Given the description of an element on the screen output the (x, y) to click on. 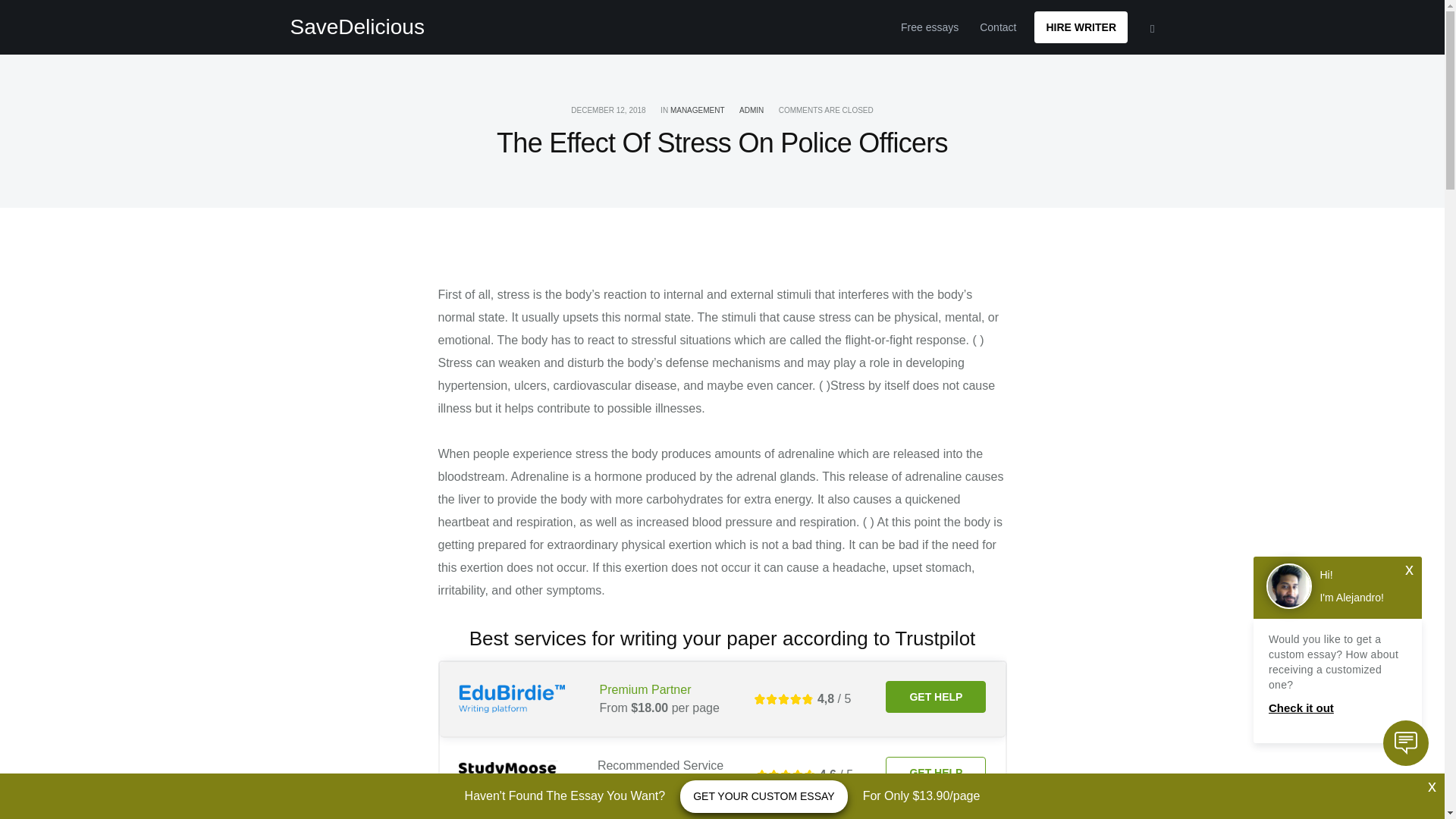
MANAGEMENT (697, 110)
ADMIN (750, 110)
Posts by admin (750, 110)
GET HELP (935, 696)
GET HELP (935, 772)
Contact (997, 27)
HIRE WRITER (1079, 27)
Free essays (929, 27)
GET YOUR CUSTOM ESSAY (763, 795)
SaveDelicious (356, 27)
Check it out (1337, 707)
